Given the description of an element on the screen output the (x, y) to click on. 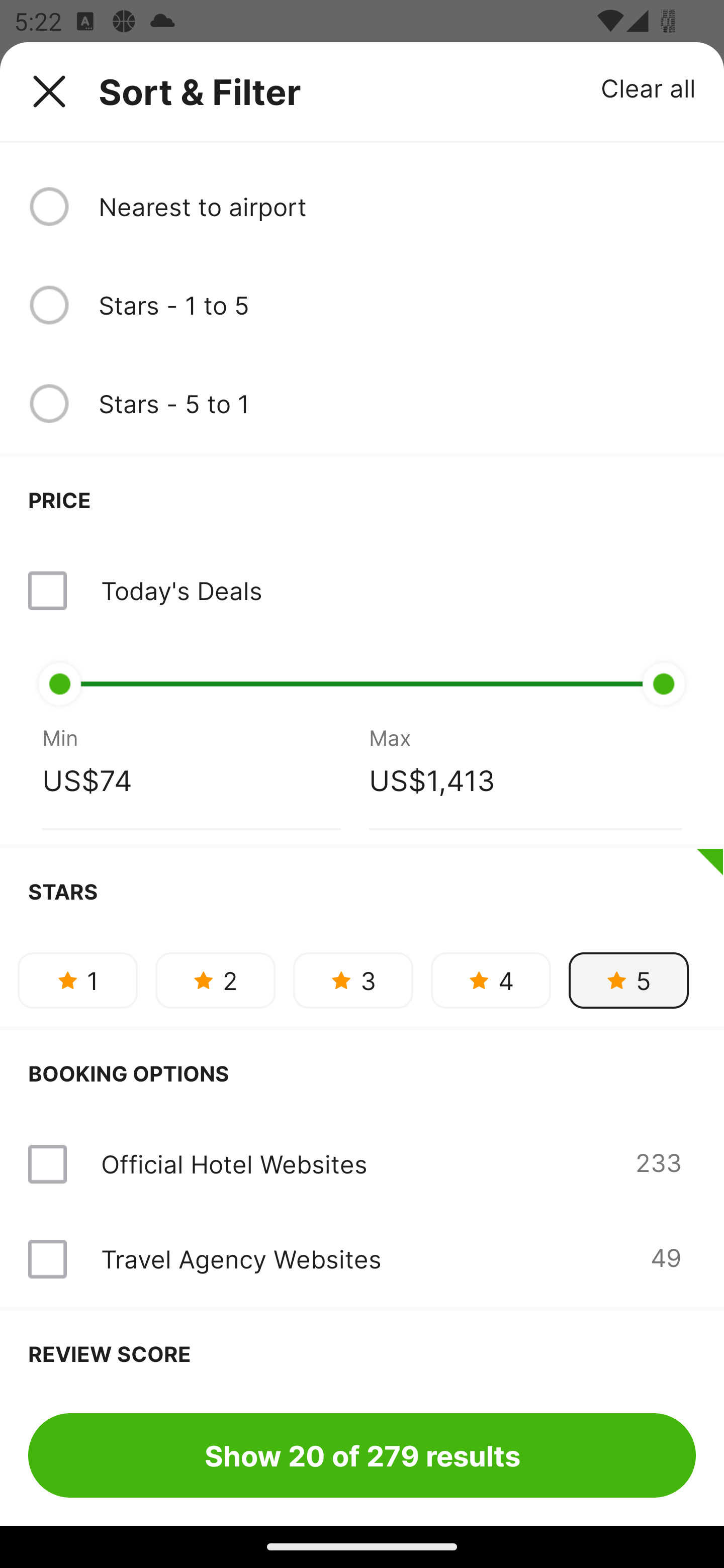
Clear all (648, 87)
Nearest to airport (396, 206)
Stars - 1 to 5 (396, 304)
Stars - 5 to 1 (396, 403)
Today's Deals (362, 590)
Today's Deals (181, 590)
1 (77, 979)
2 (214, 979)
3 (352, 979)
4 (491, 979)
5 (627, 979)
Official Hotel Websites 233 (362, 1164)
Official Hotel Websites (233, 1164)
Travel Agency Websites 49 (362, 1259)
Travel Agency Websites (240, 1258)
Show 20 of 279 results (361, 1454)
